Given the description of an element on the screen output the (x, y) to click on. 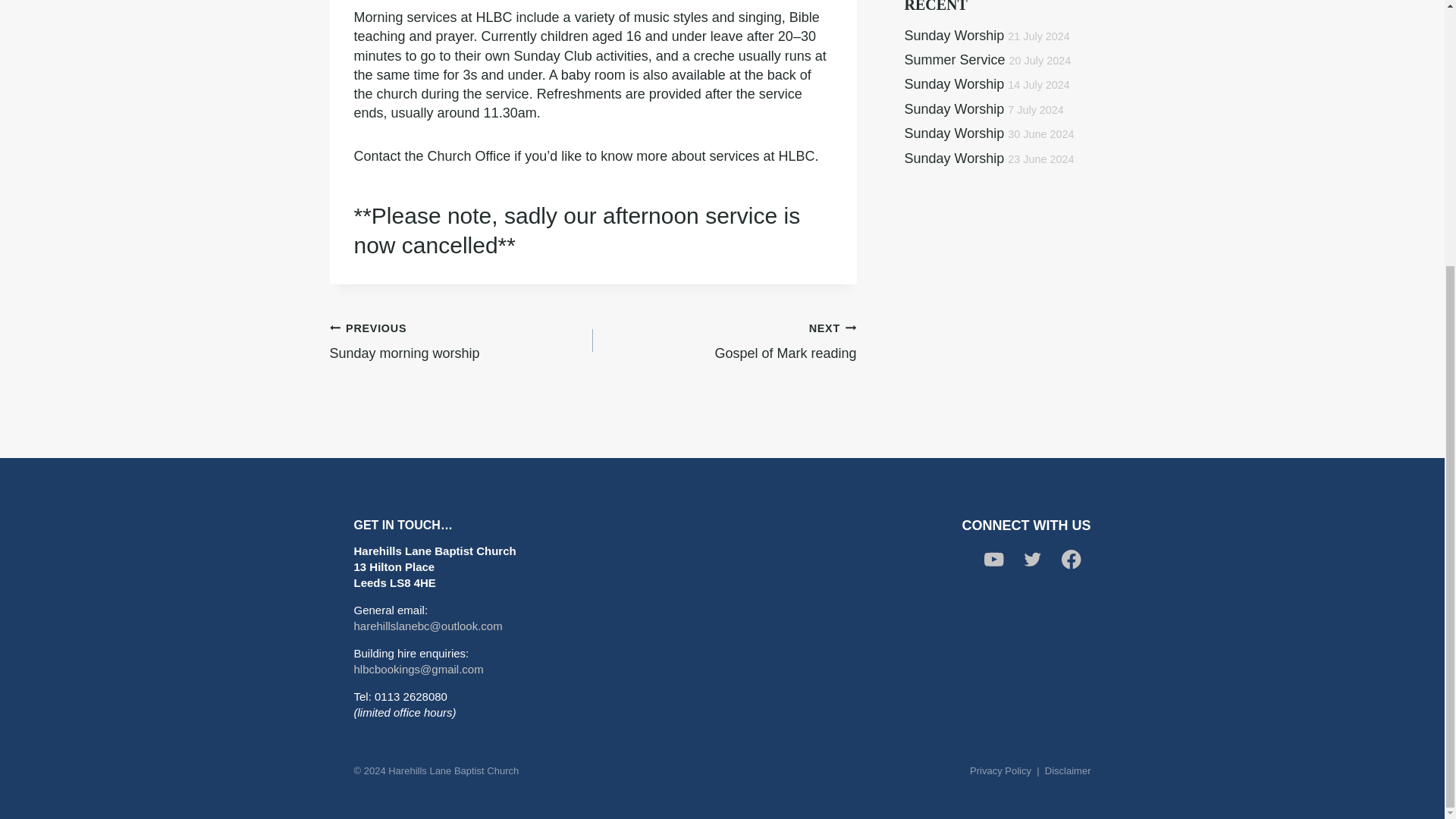
Google map of Harehills Lane Baptist Church (721, 613)
